Given the description of an element on the screen output the (x, y) to click on. 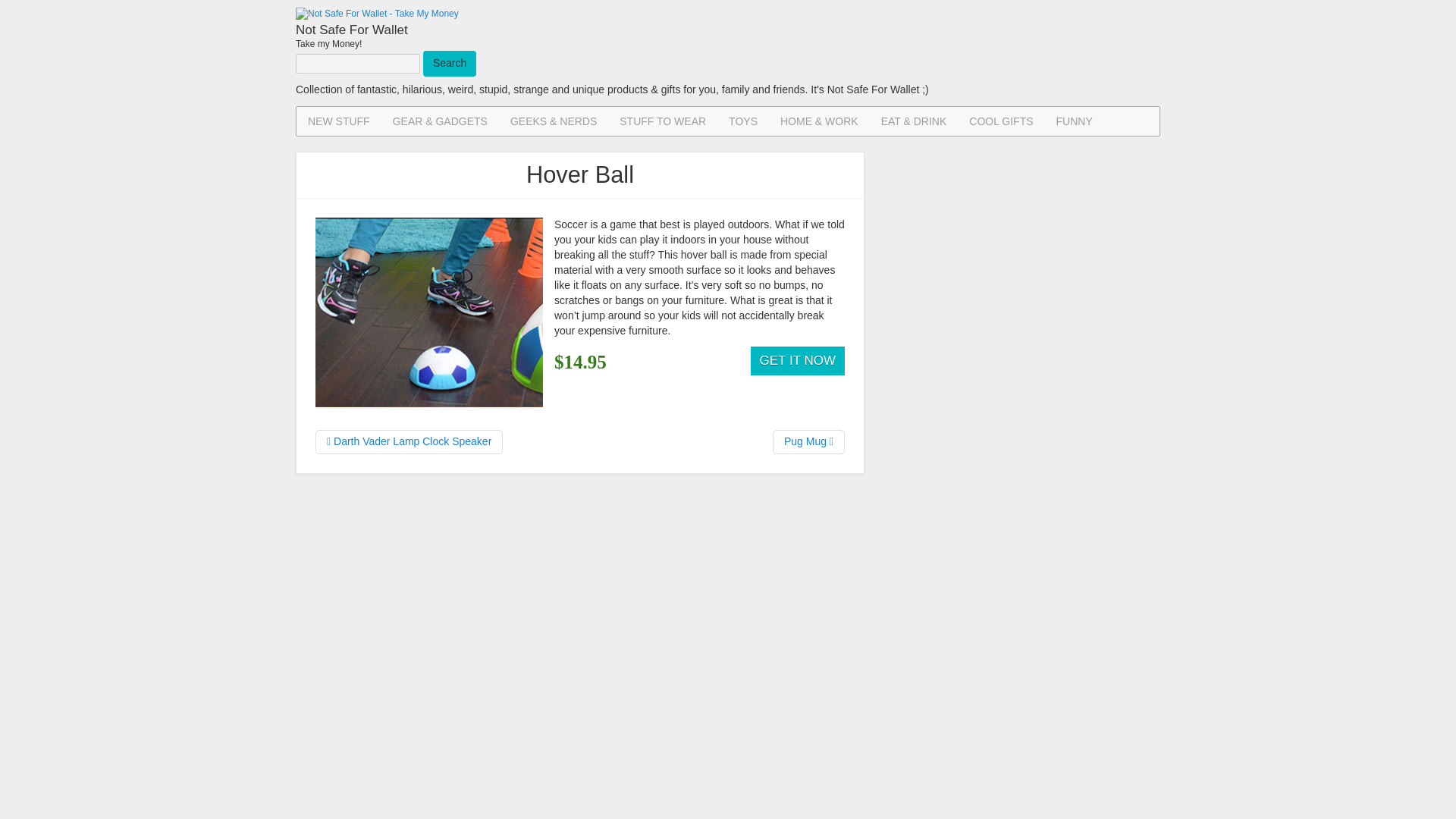
Search (449, 63)
Stuff to Wear (662, 121)
GET IT NOW (797, 360)
New Stuff (339, 121)
TOYS (742, 121)
Cool Gifts (1000, 121)
STUFF TO WEAR (662, 121)
Search (449, 63)
Darth Vader Lamp Clock Speaker (408, 441)
NEW STUFF (339, 121)
Pug Mug (808, 441)
Toys (742, 121)
FUNNY (1074, 121)
Funny (1074, 121)
COOL GIFTS (1000, 121)
